Given the description of an element on the screen output the (x, y) to click on. 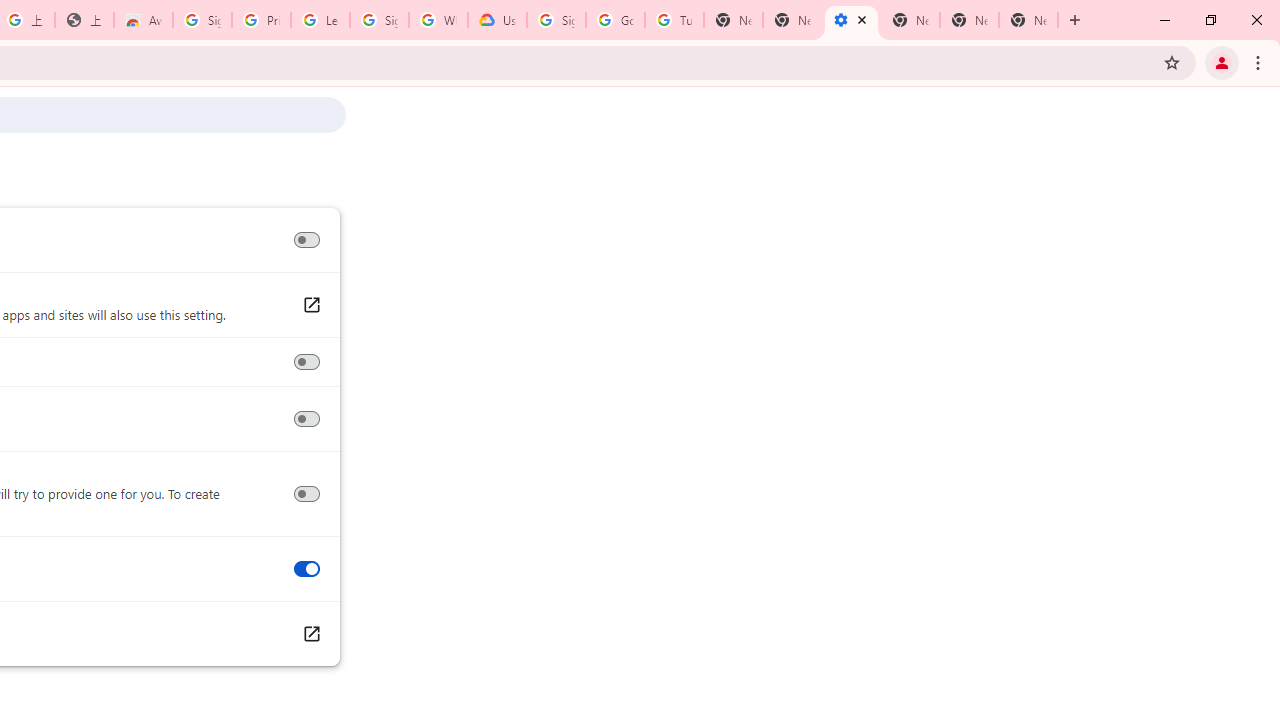
Google Account Help (615, 20)
Get image descriptions from Google (306, 494)
Sign in - Google Accounts (201, 20)
Turn cookies on or off - Computer - Google Account Help (674, 20)
Show a quick highlight on the focused object (306, 362)
Sign in - Google Accounts (379, 20)
